Given the description of an element on the screen output the (x, y) to click on. 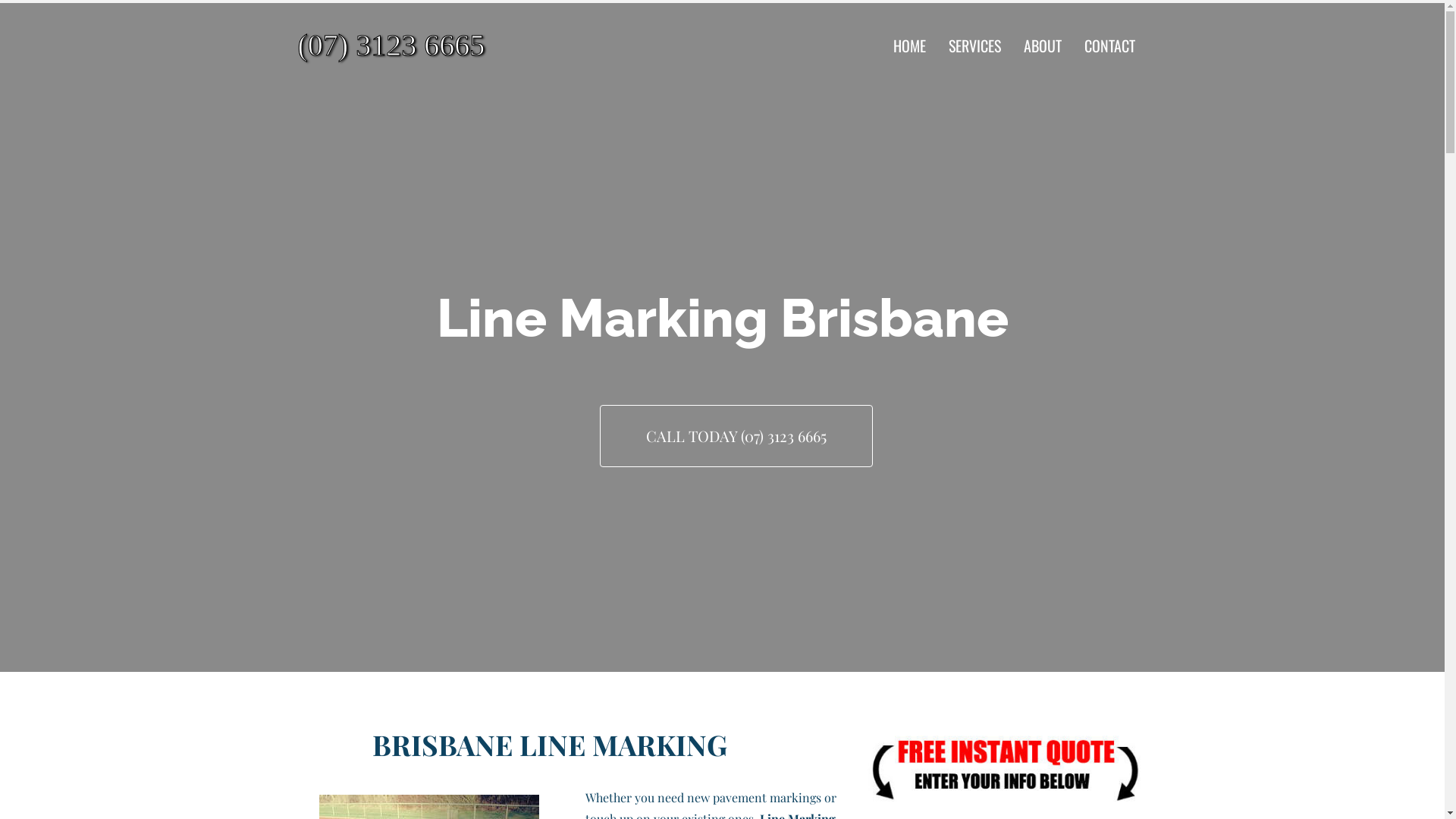
ABOUT Element type: text (1042, 45)
(07) 3123 6665 Element type: text (432, 45)
bannerred_2 Element type: hover (1003, 766)
CONTACT Element type: text (1109, 45)
CALL TODAY (07) 3123 6665 Element type: text (735, 435)
SERVICES Element type: text (974, 45)
HOME Element type: text (909, 45)
